Given the description of an element on the screen output the (x, y) to click on. 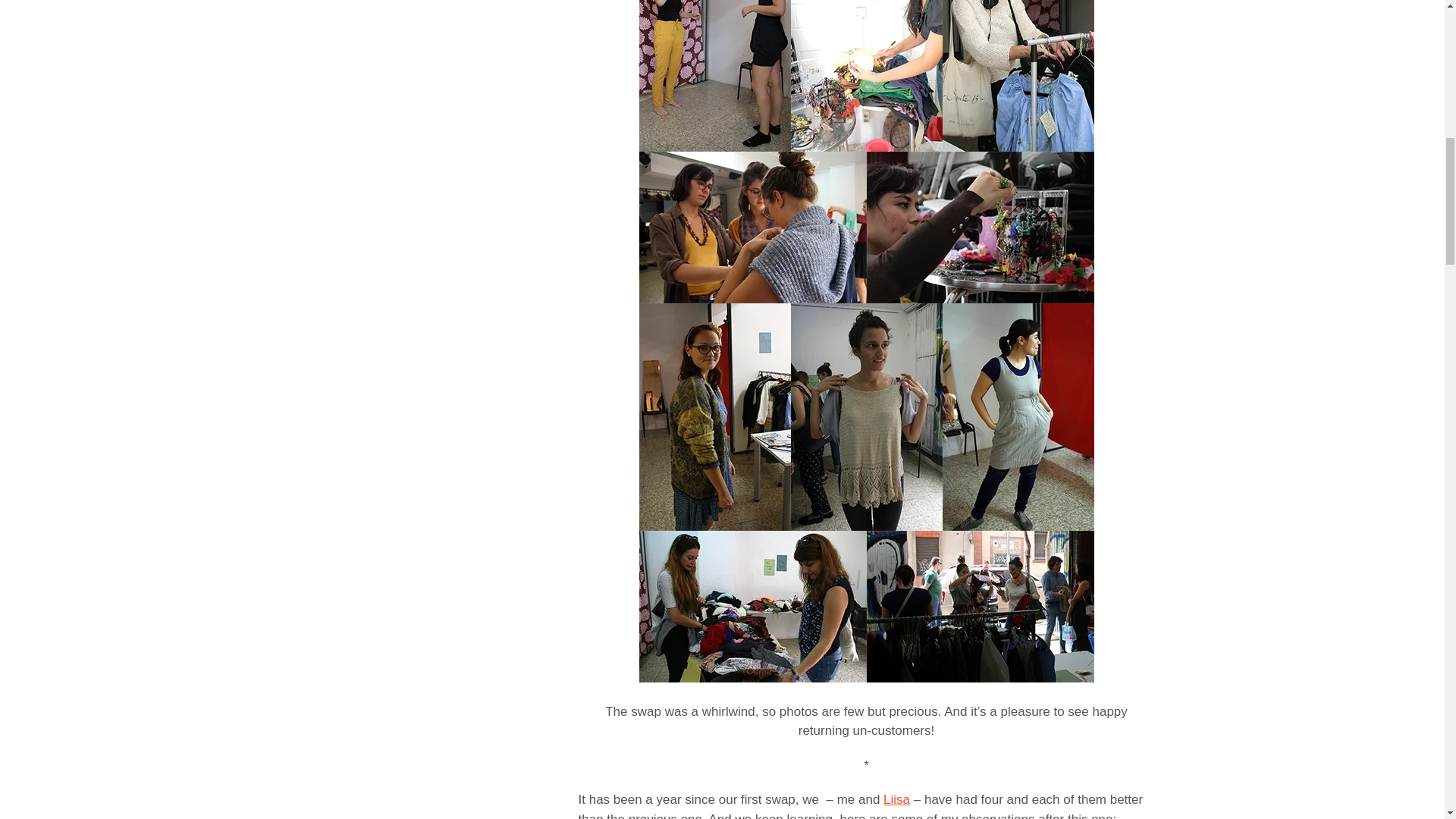
Liisa (896, 799)
